Given the description of an element on the screen output the (x, y) to click on. 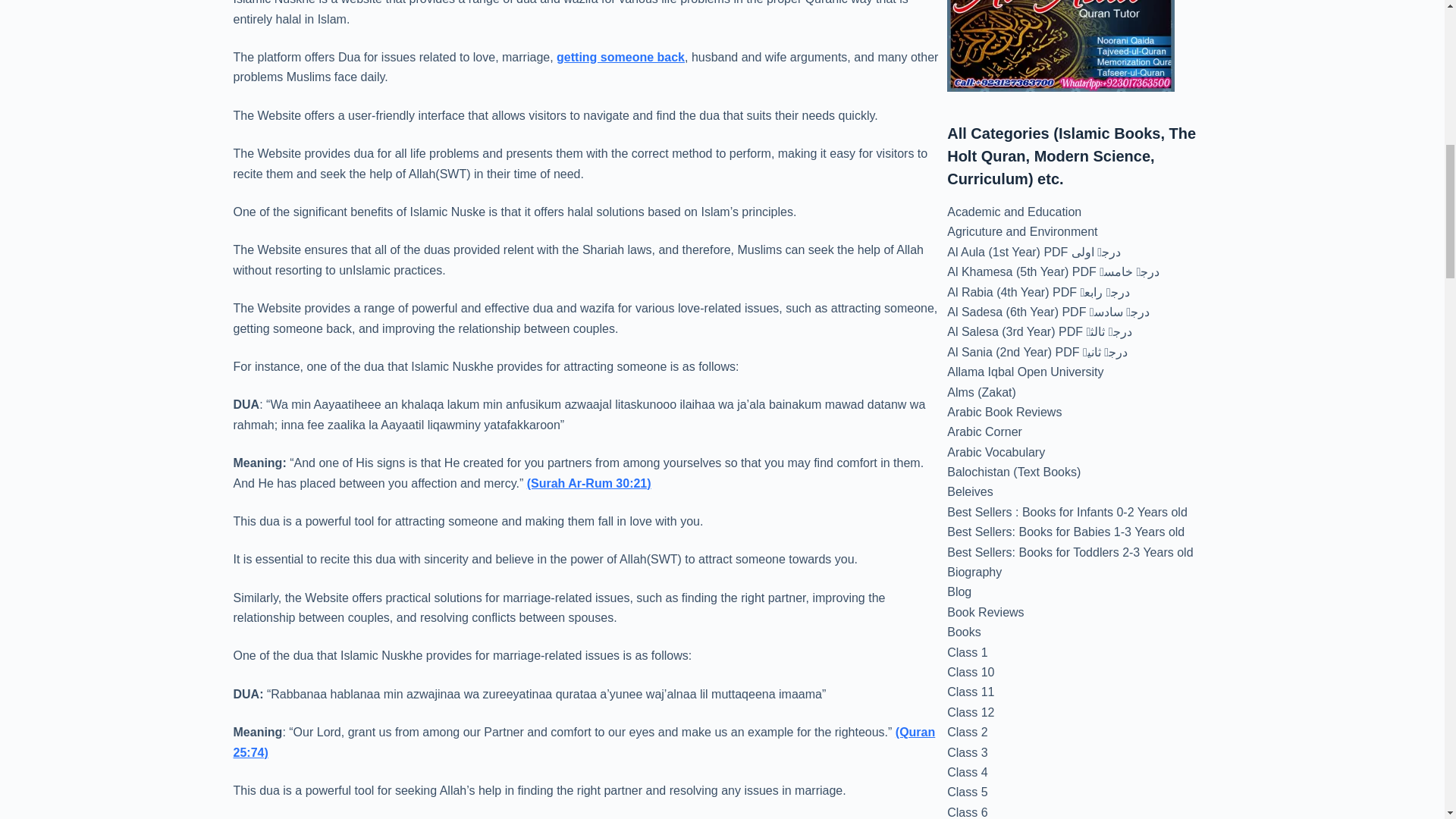
Alasad Online Quran Mualim (1060, 45)
